Given the description of an element on the screen output the (x, y) to click on. 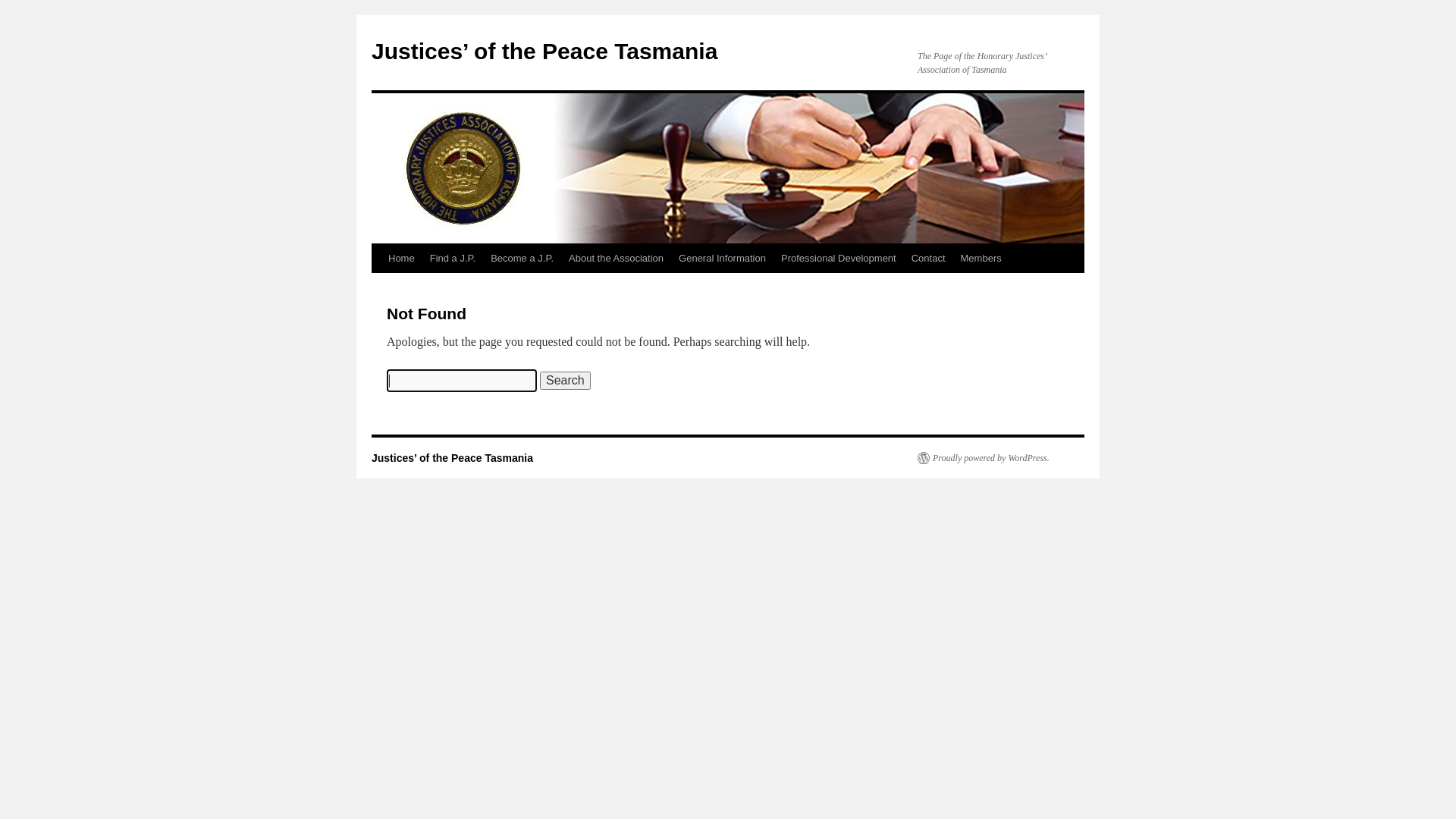
Members Element type: text (981, 258)
Proudly powered by WordPress. Element type: text (983, 457)
Find a J.P. Element type: text (452, 258)
Home Element type: text (401, 258)
Search Element type: text (564, 380)
Professional Development Element type: text (838, 258)
Become a J.P. Element type: text (522, 258)
General Information Element type: text (722, 258)
Skip to content Element type: text (377, 286)
Contact Element type: text (928, 258)
About the Association Element type: text (616, 258)
